Given the description of an element on the screen output the (x, y) to click on. 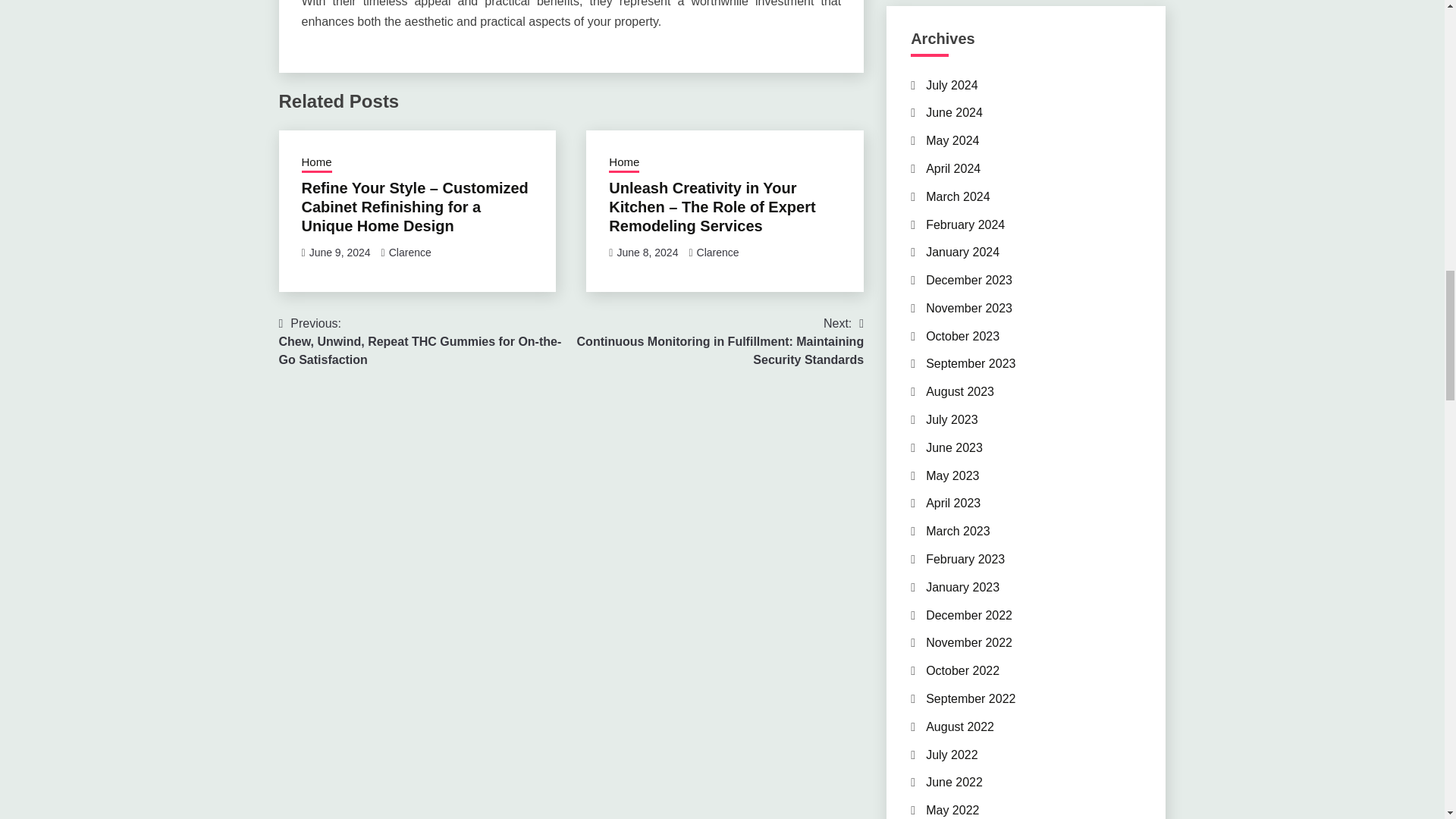
June 8, 2024 (646, 252)
June 9, 2024 (339, 252)
July 2024 (952, 84)
Home (316, 163)
Clarence (409, 252)
Clarence (718, 252)
Home (623, 163)
June 2024 (954, 112)
